Given the description of an element on the screen output the (x, y) to click on. 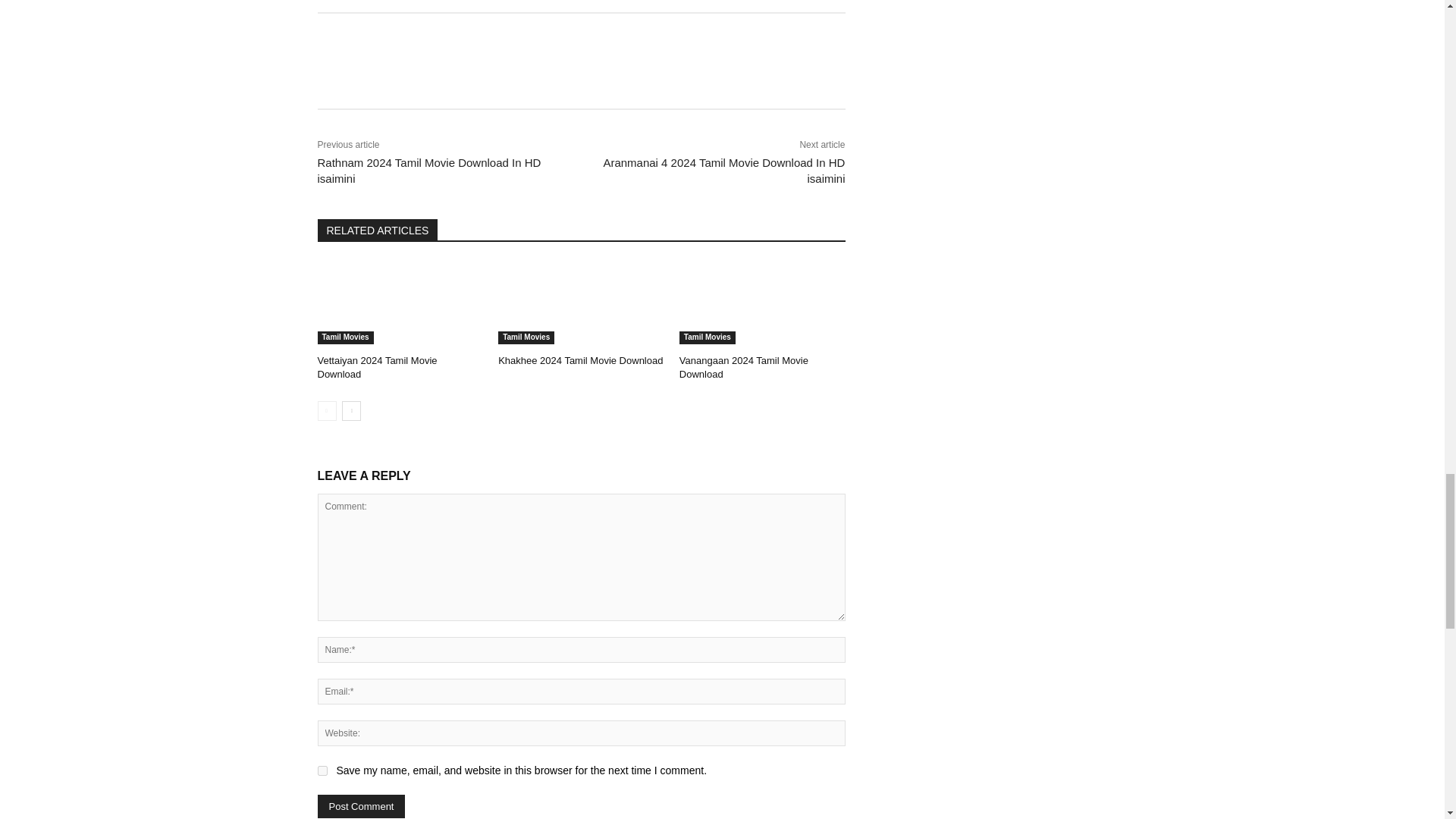
Post Comment (360, 806)
yes (321, 770)
